Given the description of an element on the screen output the (x, y) to click on. 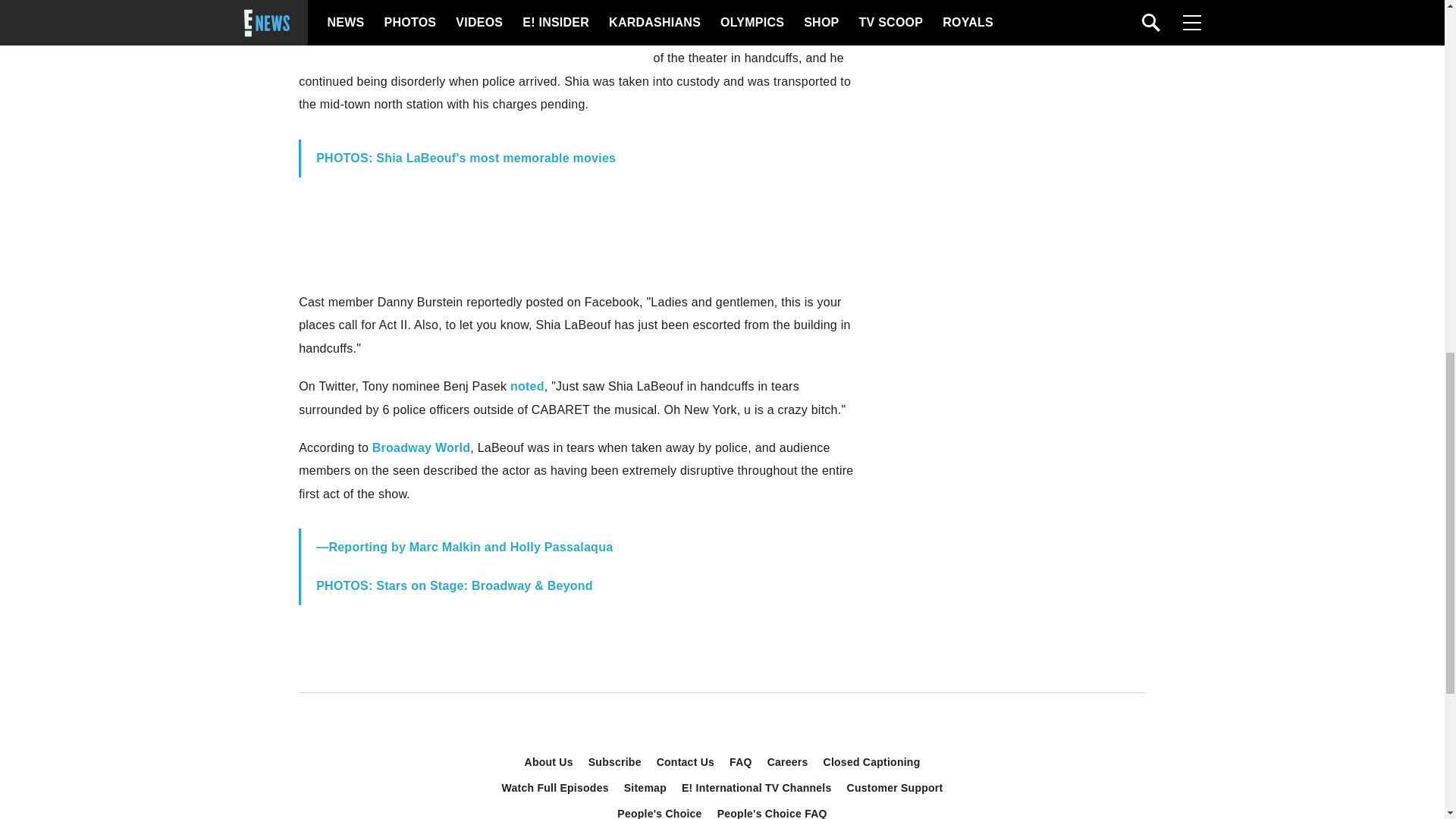
PHOTOS: Shia LaBeouf's most memorable movies (465, 157)
Contact Us (685, 761)
Broadway World (421, 447)
Subscribe (614, 761)
FAQ (741, 761)
About Us (548, 761)
noted (527, 386)
